Given the description of an element on the screen output the (x, y) to click on. 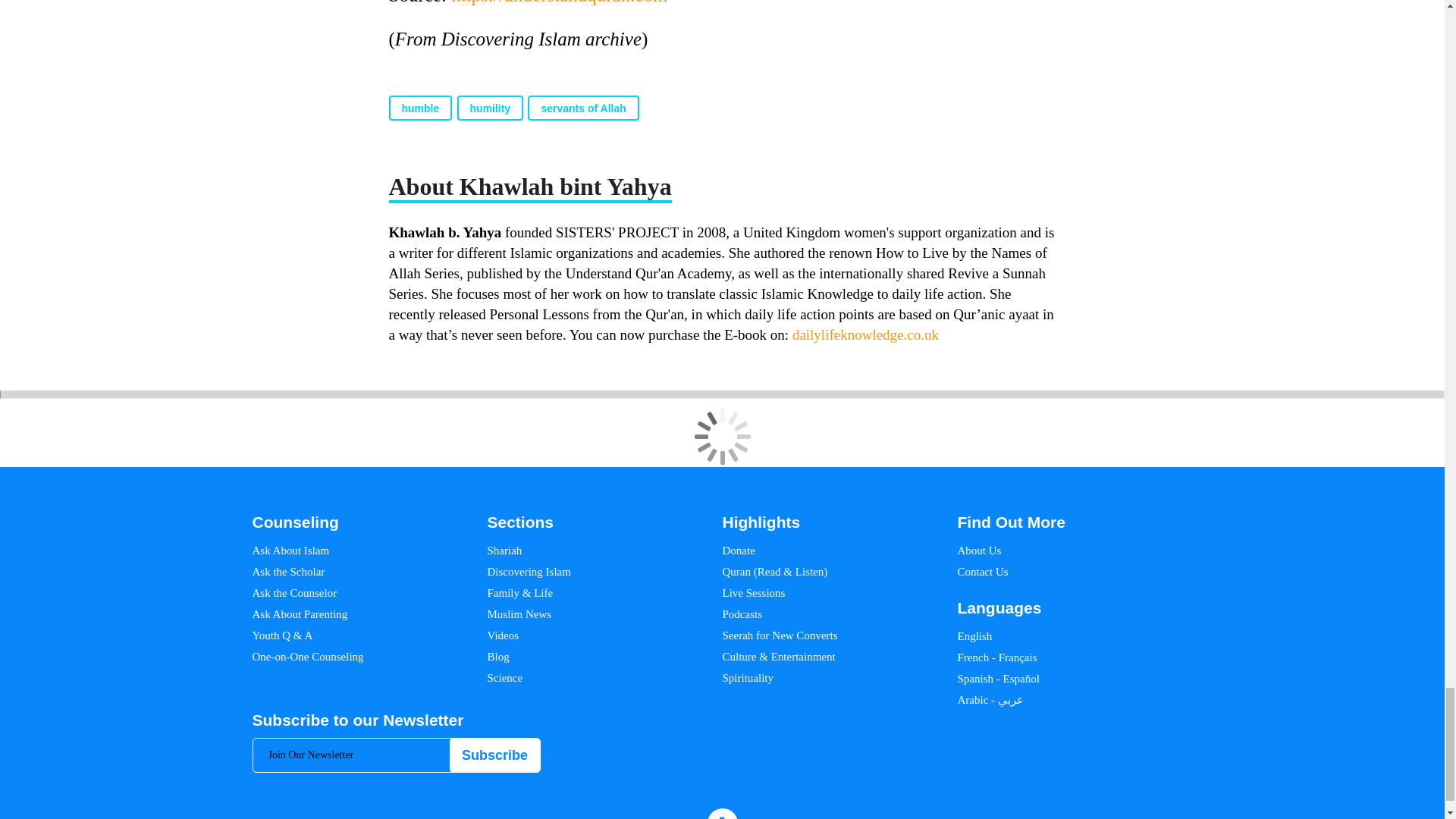
Facebook (1045, 817)
humble Tag (419, 107)
Twitter (1068, 817)
pinterest (1113, 817)
humility Tag (490, 107)
Subscribe (494, 755)
youtube (1166, 817)
googleplus (1139, 817)
instagram (1091, 817)
servants of Allah Tag (583, 107)
